Given the description of an element on the screen output the (x, y) to click on. 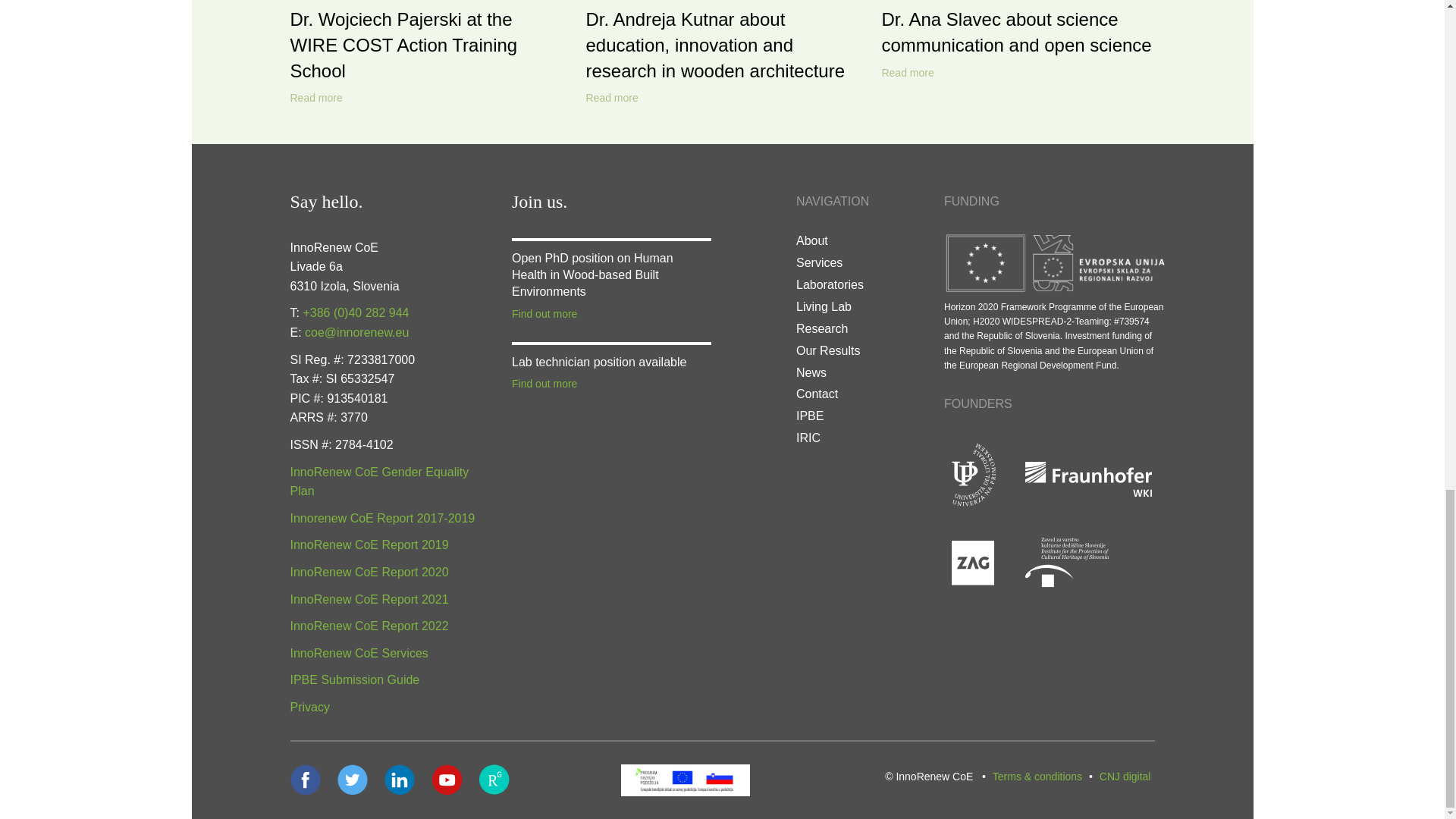
Dr. Ana Slavec about science communication and open science (1015, 32)
Read more (611, 98)
InnoRenew CoE Gender Equality Plan (378, 481)
Read more (906, 72)
Read more (315, 98)
